Given the description of an element on the screen output the (x, y) to click on. 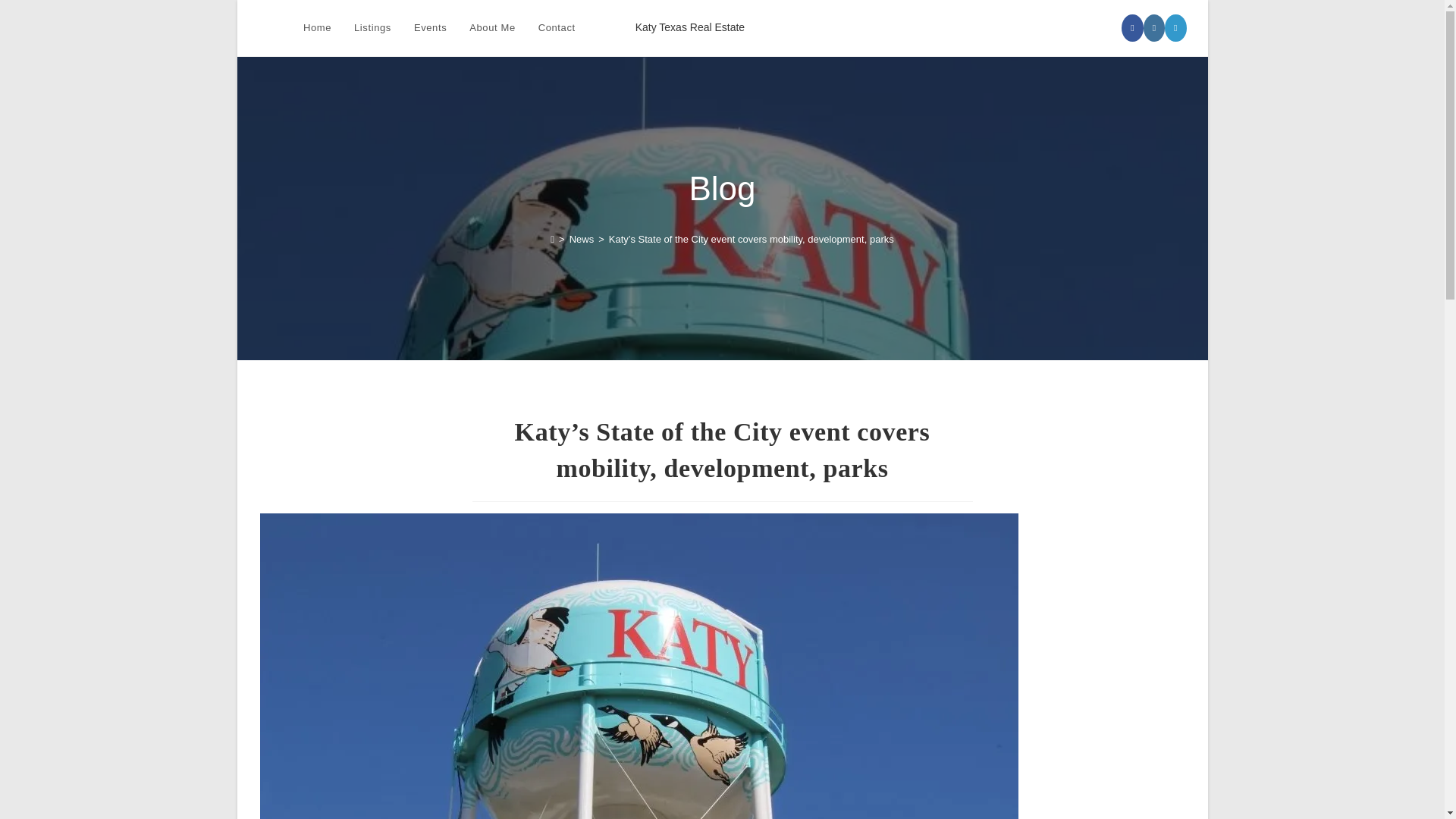
Events (430, 28)
Home (317, 28)
Contact (556, 28)
Listings (372, 28)
Katy Texas Real Estate (689, 27)
News (581, 238)
About Me (491, 28)
